Given the description of an element on the screen output the (x, y) to click on. 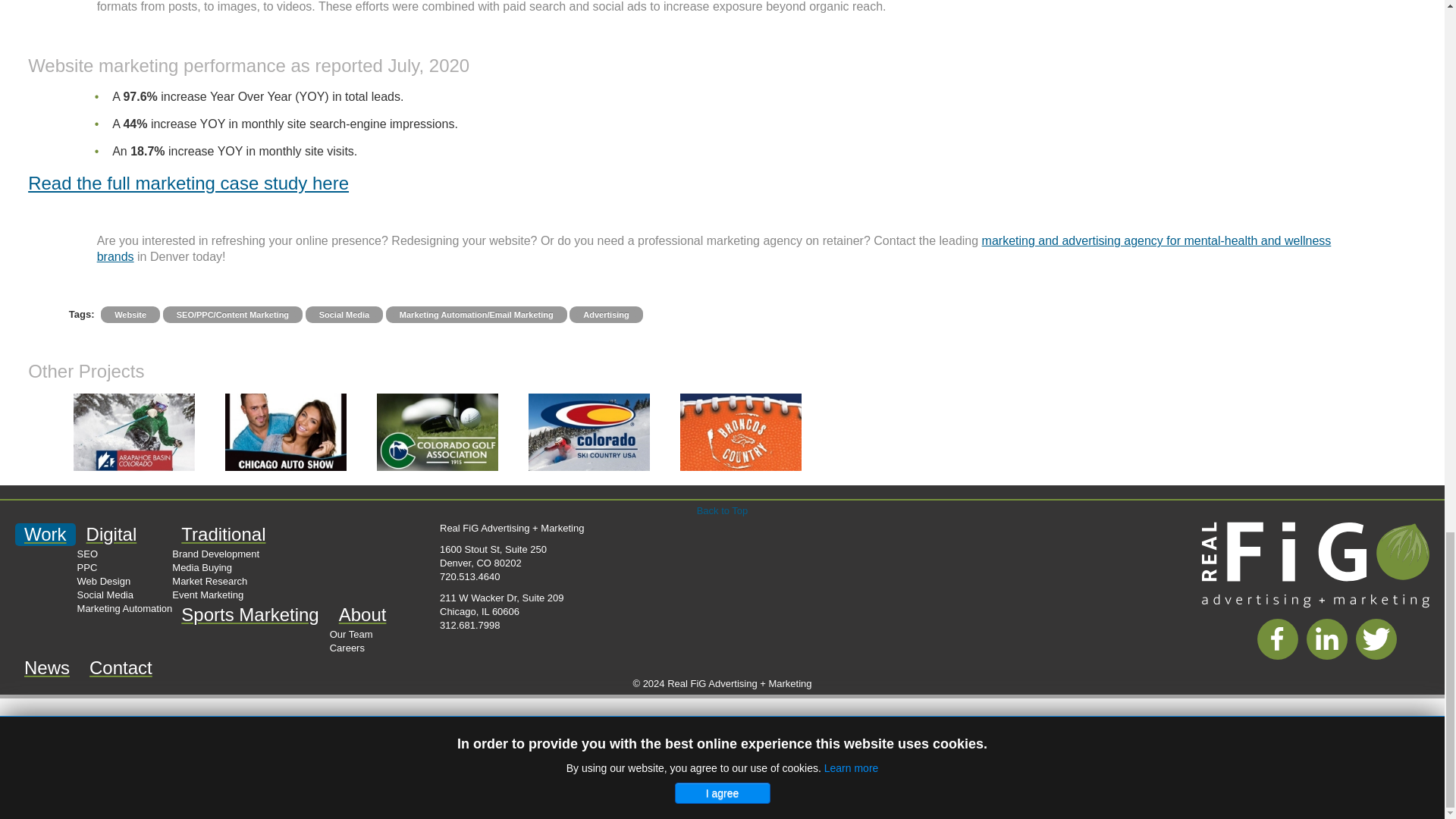
Colorado Golf Association (437, 431)
Denver Broncos (740, 431)
website marketing case study (188, 182)
Chicago Auto Show (285, 431)
Read the full marketing case study here (188, 182)
Colorado Ski Country USA (588, 431)
Website (129, 314)
Arapahoe Basin (134, 431)
